Given the description of an element on the screen output the (x, y) to click on. 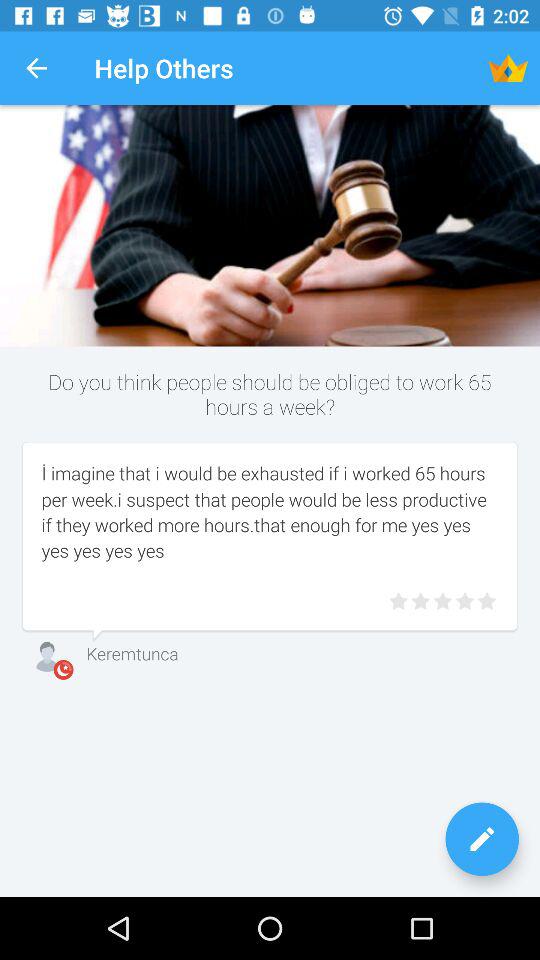
write your opinion (482, 839)
